Given the description of an element on the screen output the (x, y) to click on. 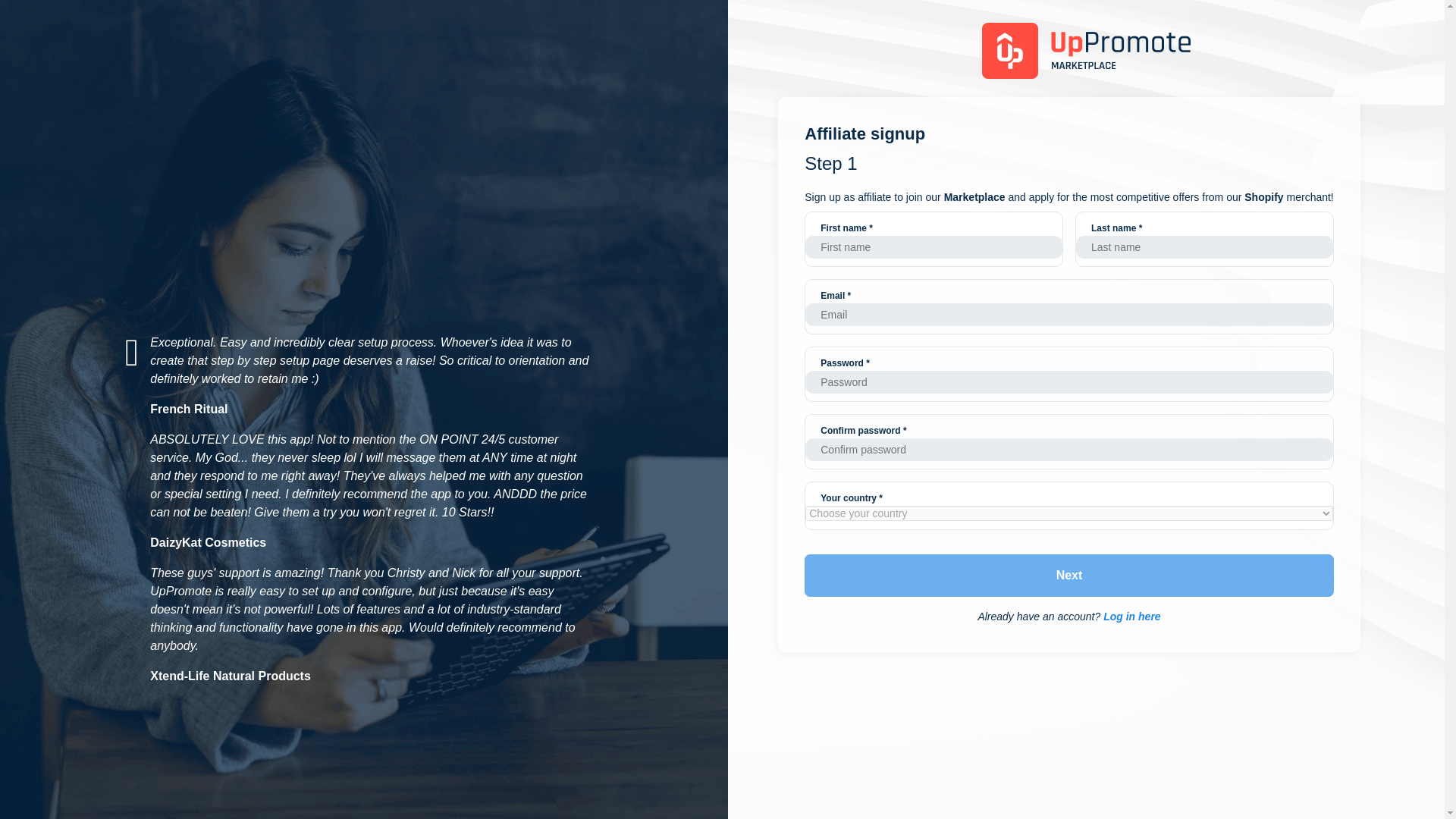
Log in here (1131, 616)
Next (1069, 575)
